Given the description of an element on the screen output the (x, y) to click on. 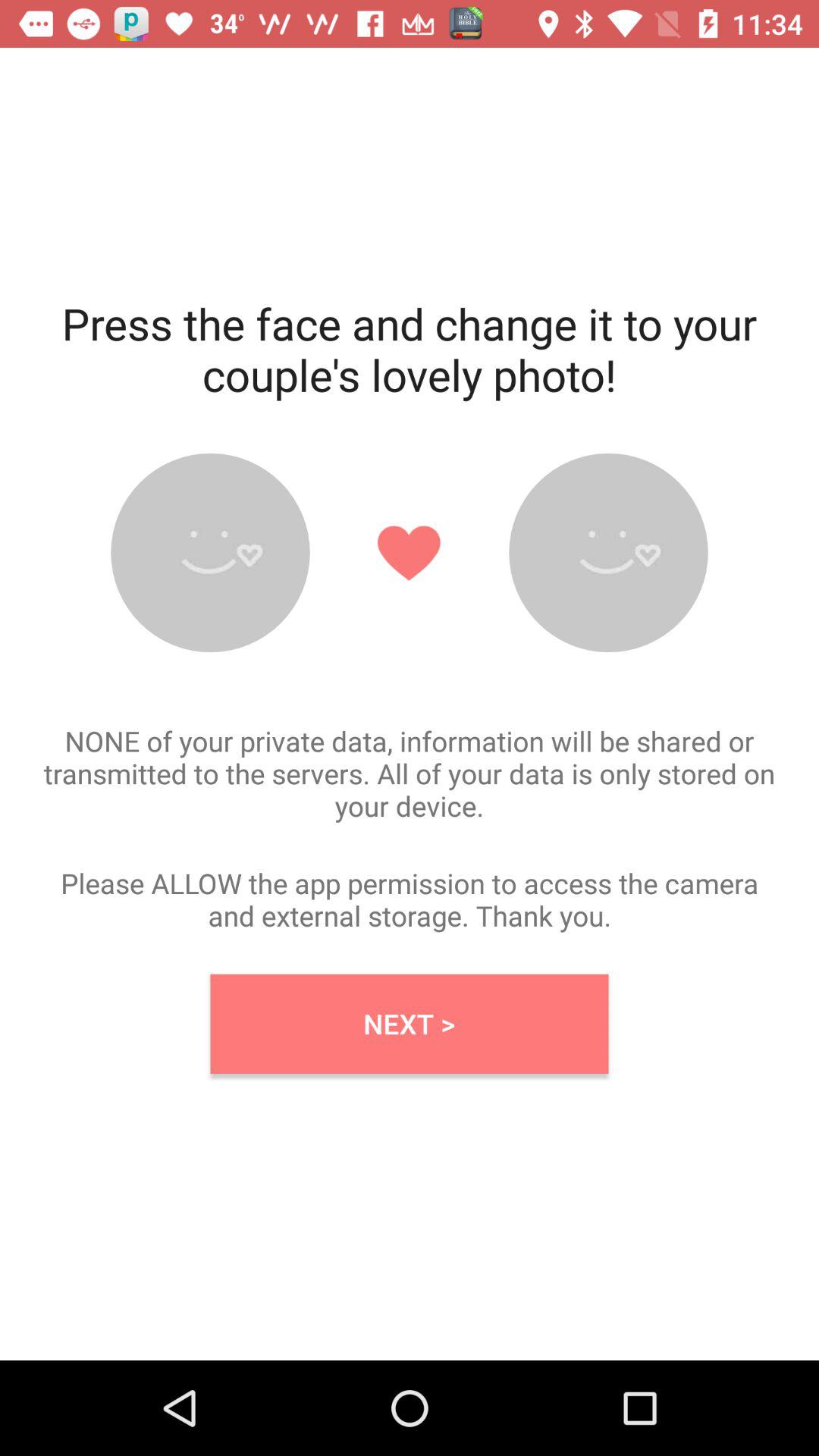
click on the first smiley face opting (209, 552)
